Given the description of an element on the screen output the (x, y) to click on. 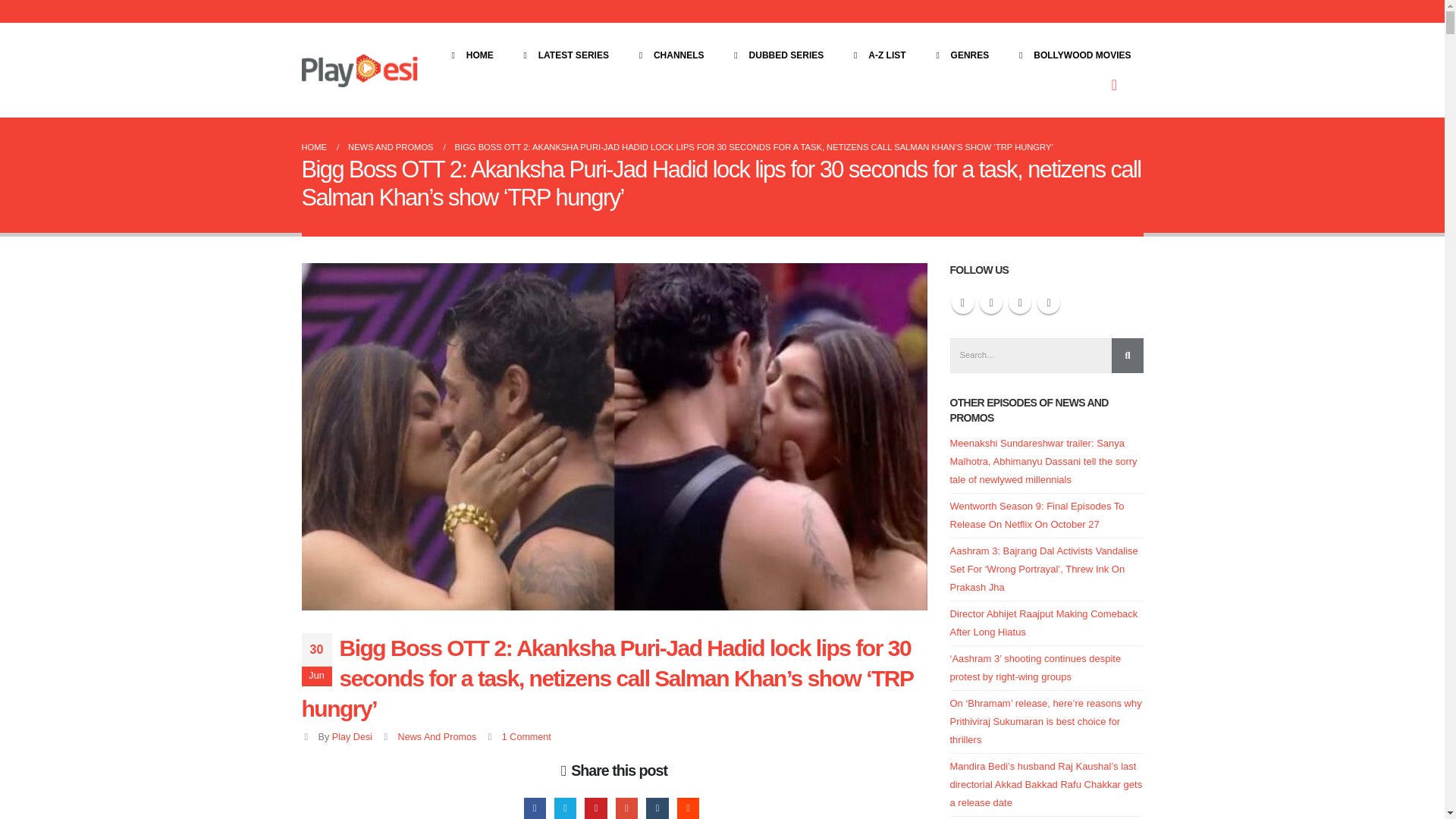
News And Promos (437, 737)
CHANNELS (668, 55)
Play Desi - Your home for Indian Web Series Online (360, 70)
1 Comment (526, 737)
HOME (469, 55)
GENRES (959, 55)
DUBBED SERIES (776, 55)
Go to Home Page (314, 147)
Posts by Play Desi (351, 737)
NEWS AND PROMOS (390, 147)
